Given the description of an element on the screen output the (x, y) to click on. 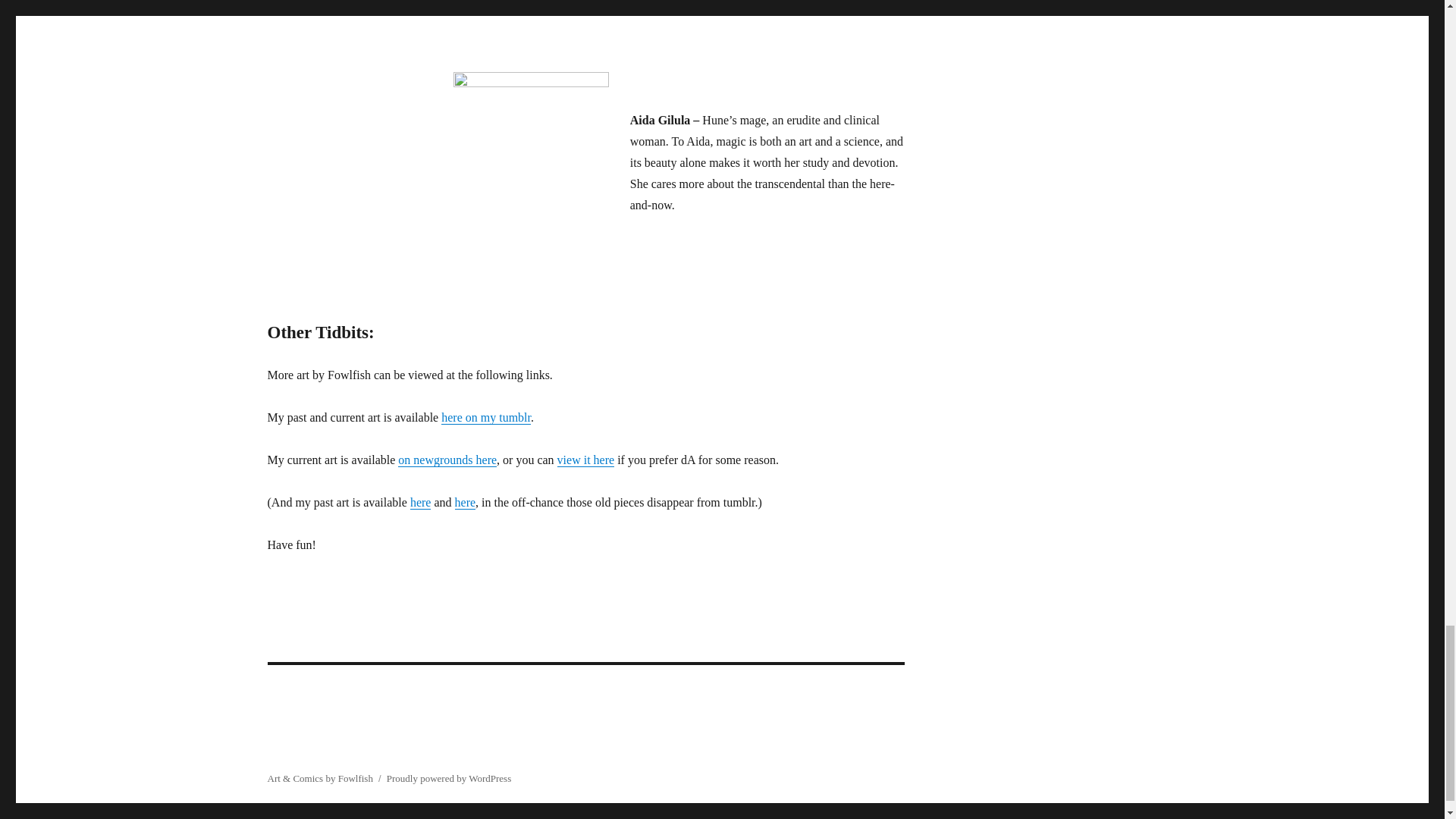
here on my tumblr (486, 417)
view it here (585, 459)
here (465, 502)
Proudly powered by WordPress (449, 778)
here (420, 502)
on newgrounds here (446, 459)
